Given the description of an element on the screen output the (x, y) to click on. 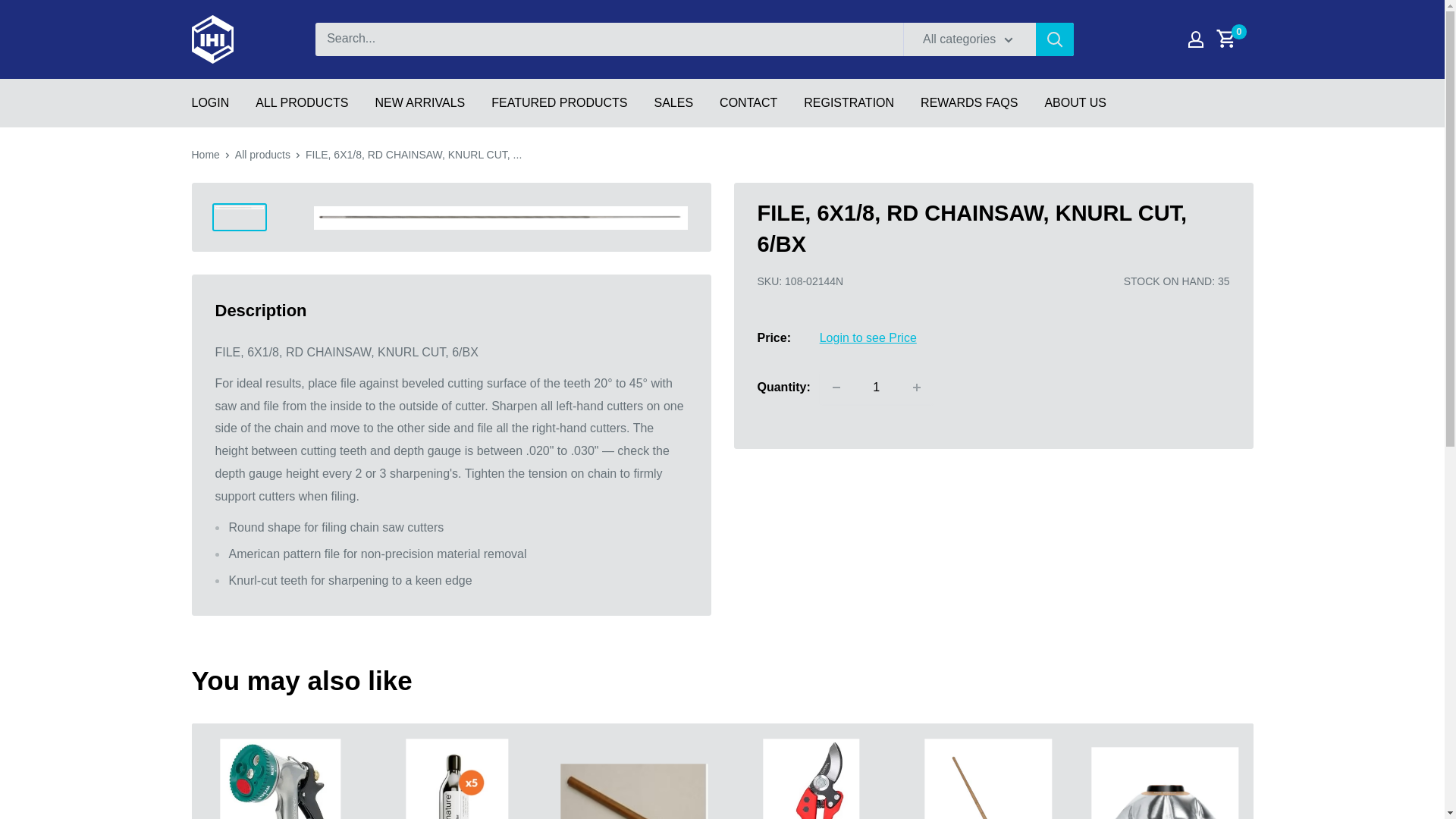
Home (204, 154)
Decrease quantity by 1 (836, 387)
Increase quantity by 1 (917, 387)
0 (1234, 39)
All products (261, 154)
1 (876, 387)
NEW ARRIVALS (419, 101)
FEATURED PRODUCTS (559, 101)
REGISTRATION (848, 101)
REWARDS FAQS (968, 101)
